Given the description of an element on the screen output the (x, y) to click on. 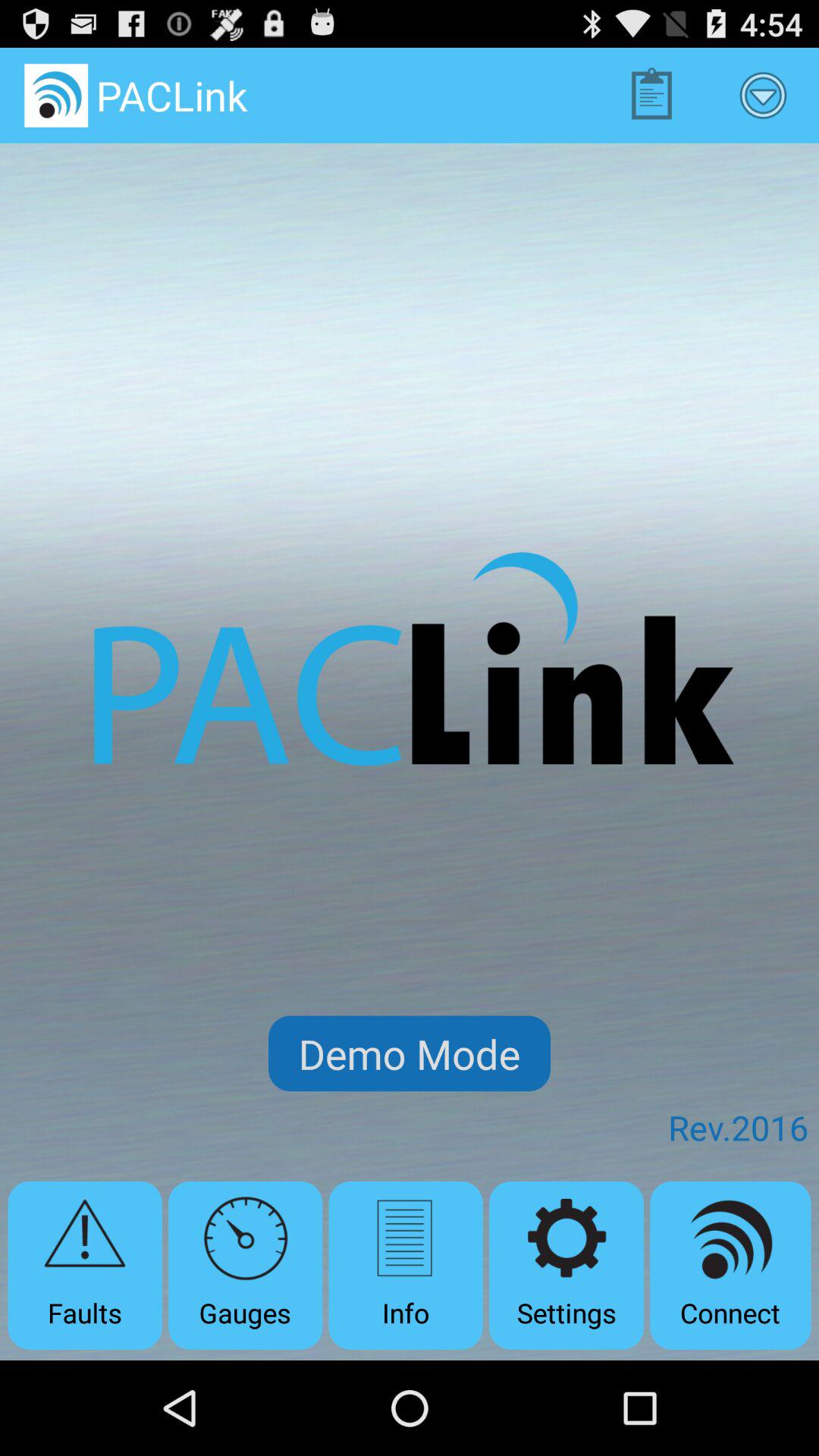
tap icon below demo mode (245, 1265)
